Given the description of an element on the screen output the (x, y) to click on. 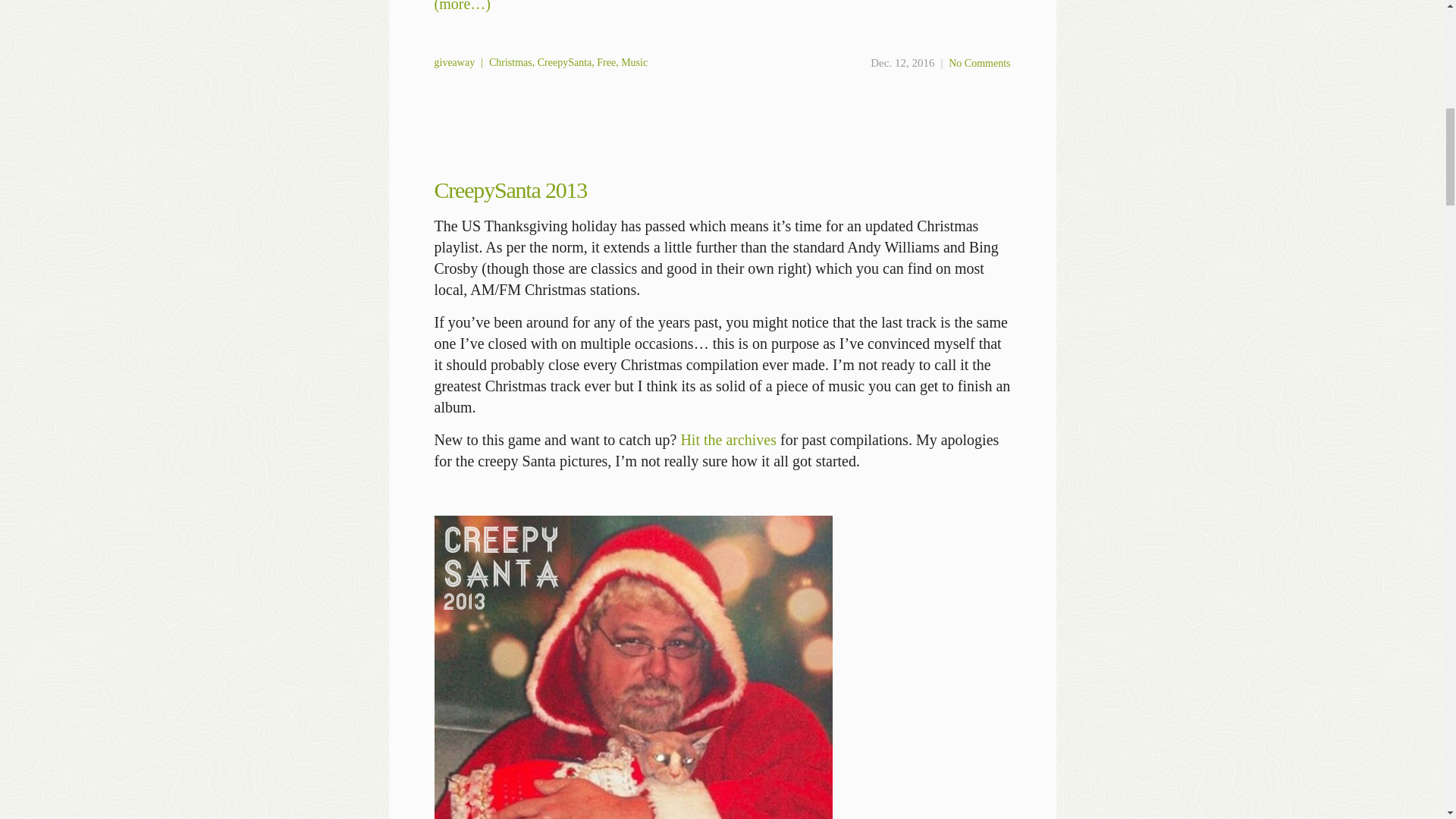
Christmas (510, 61)
Free (605, 61)
CreepySanta 2013 (509, 189)
CreepySanta (564, 61)
Hit the archives (727, 439)
giveaway (453, 61)
No Comments (979, 62)
Music (634, 61)
